Given the description of an element on the screen output the (x, y) to click on. 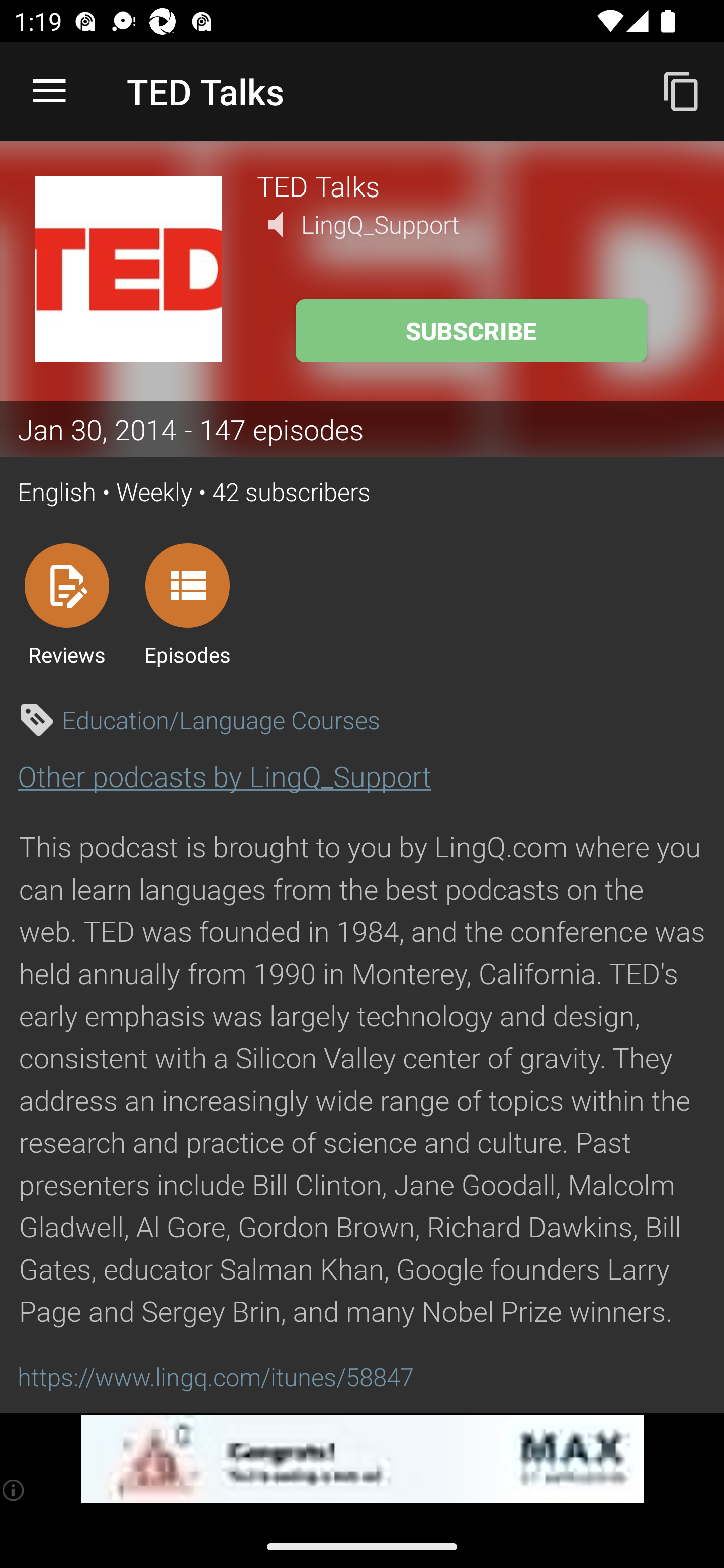
Open navigation sidebar (49, 91)
Copy feed url to clipboard (681, 90)
TED Talks (472, 185)
SUBSCRIBE (470, 330)
Reviews (66, 604)
Episodes (187, 604)
Other podcasts by LingQ_Support (224, 775)
app-monetization (362, 1459)
(i) (14, 1489)
